Given the description of an element on the screen output the (x, y) to click on. 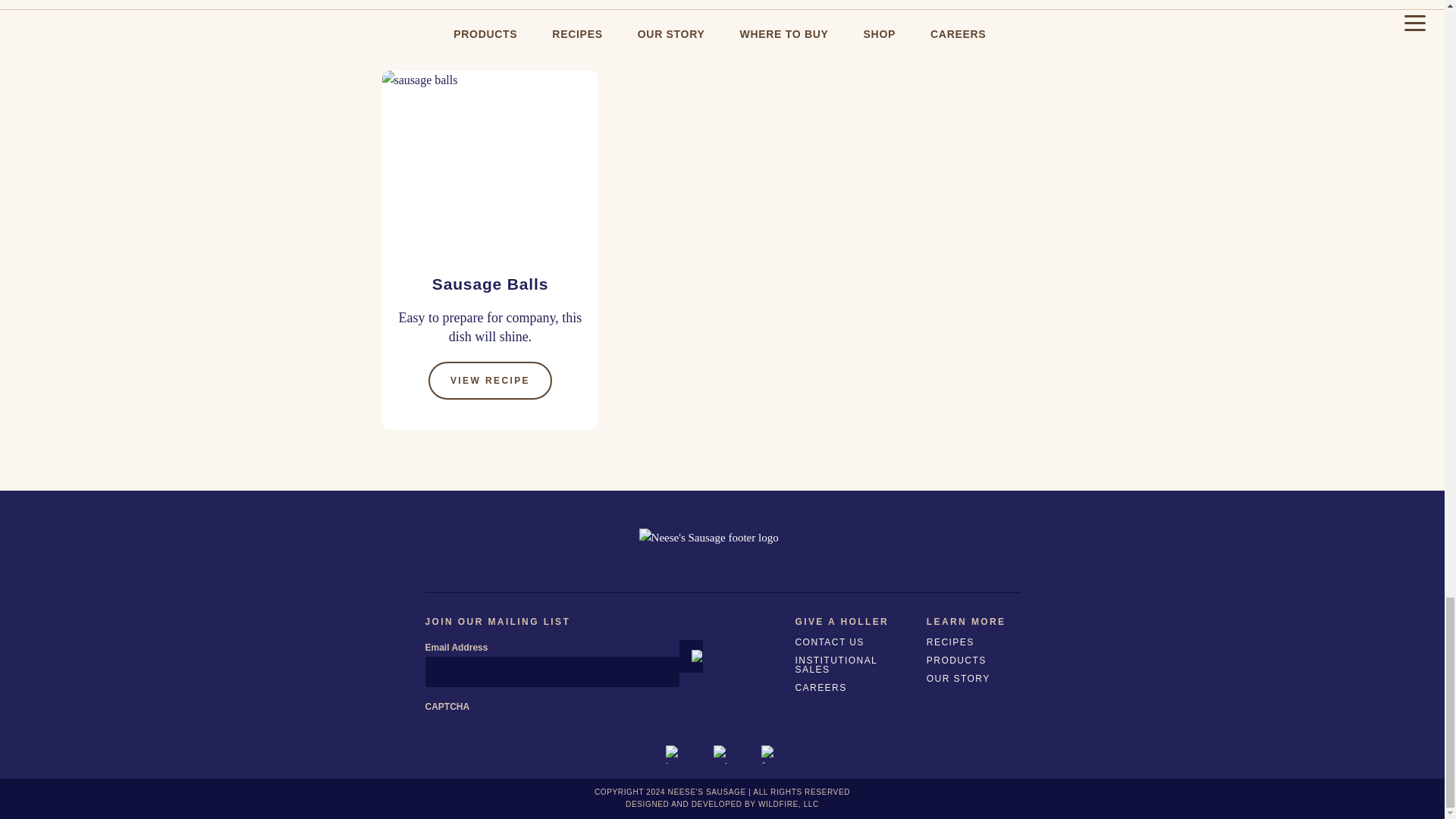
PRODUCTS (970, 660)
RECIPES (970, 642)
CONTACT US (854, 642)
WILDFIRE, LLC (788, 804)
OUR STORY (970, 678)
INSTITUTIONAL SALES (854, 664)
VIEW RECIPE (489, 380)
CAREERS (854, 687)
